Given the description of an element on the screen output the (x, y) to click on. 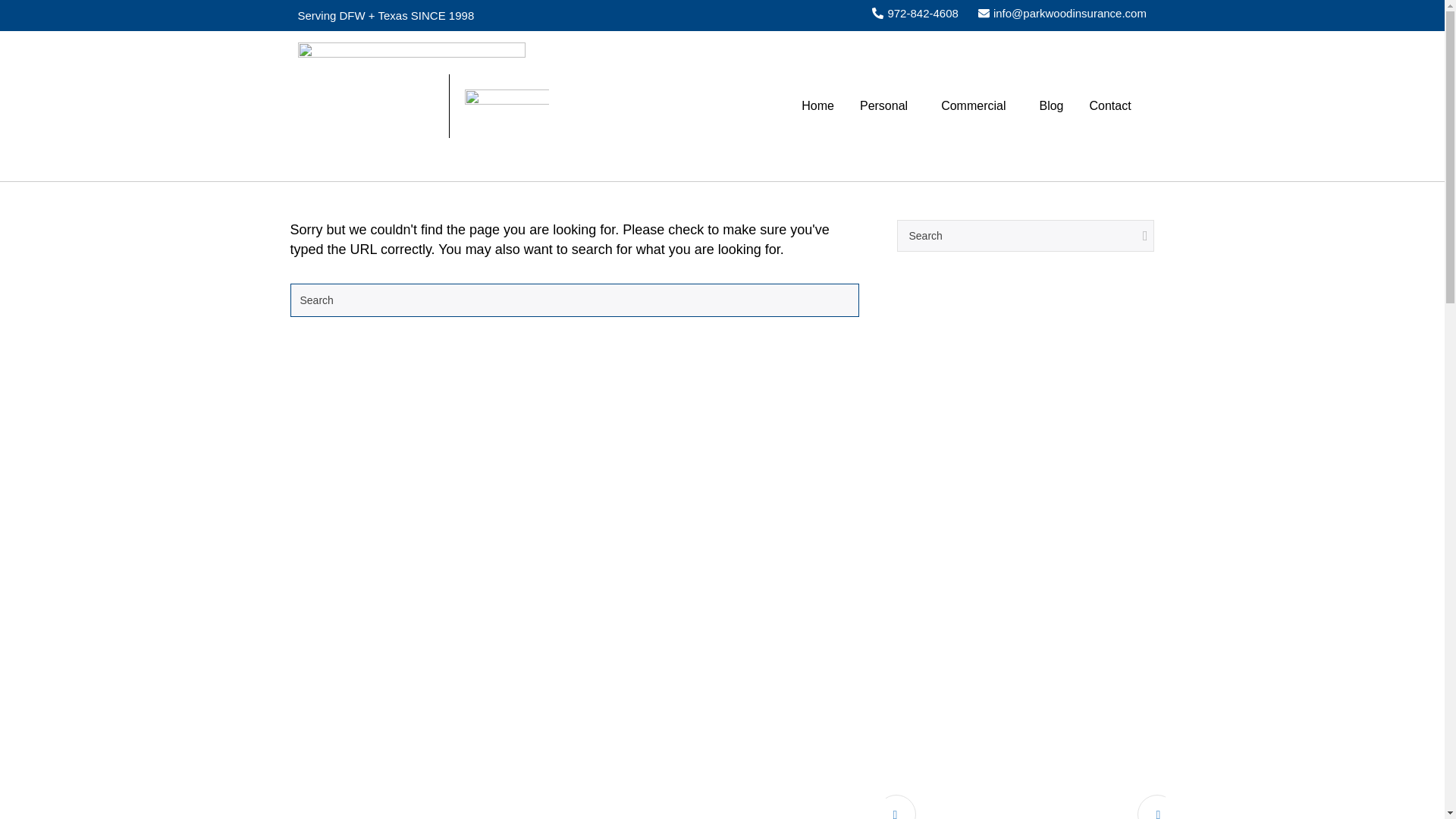
Blog (1050, 105)
972-842-4608 (915, 13)
Contact (1110, 105)
Commercial (977, 105)
Personal (887, 105)
Home (818, 105)
